Given the description of an element on the screen output the (x, y) to click on. 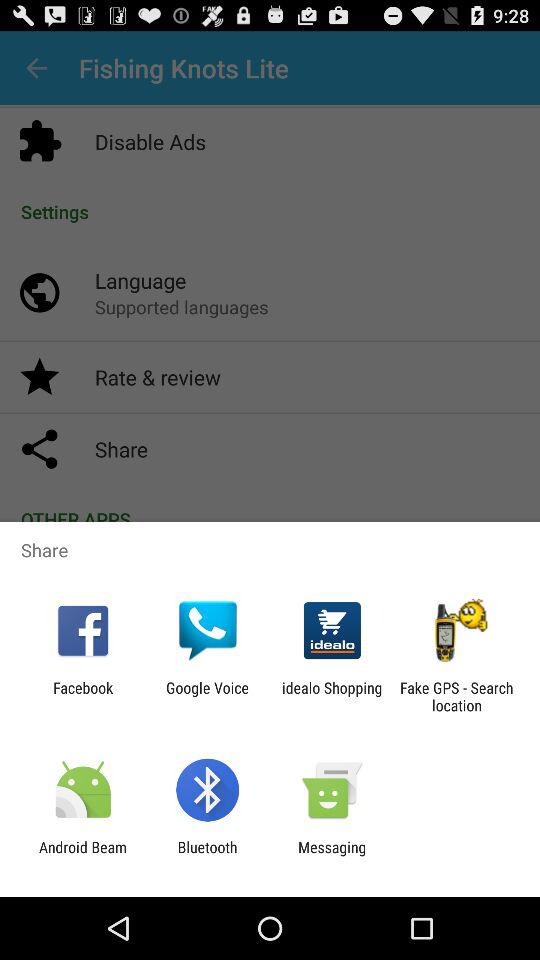
tap the app next to the messaging icon (207, 856)
